Given the description of an element on the screen output the (x, y) to click on. 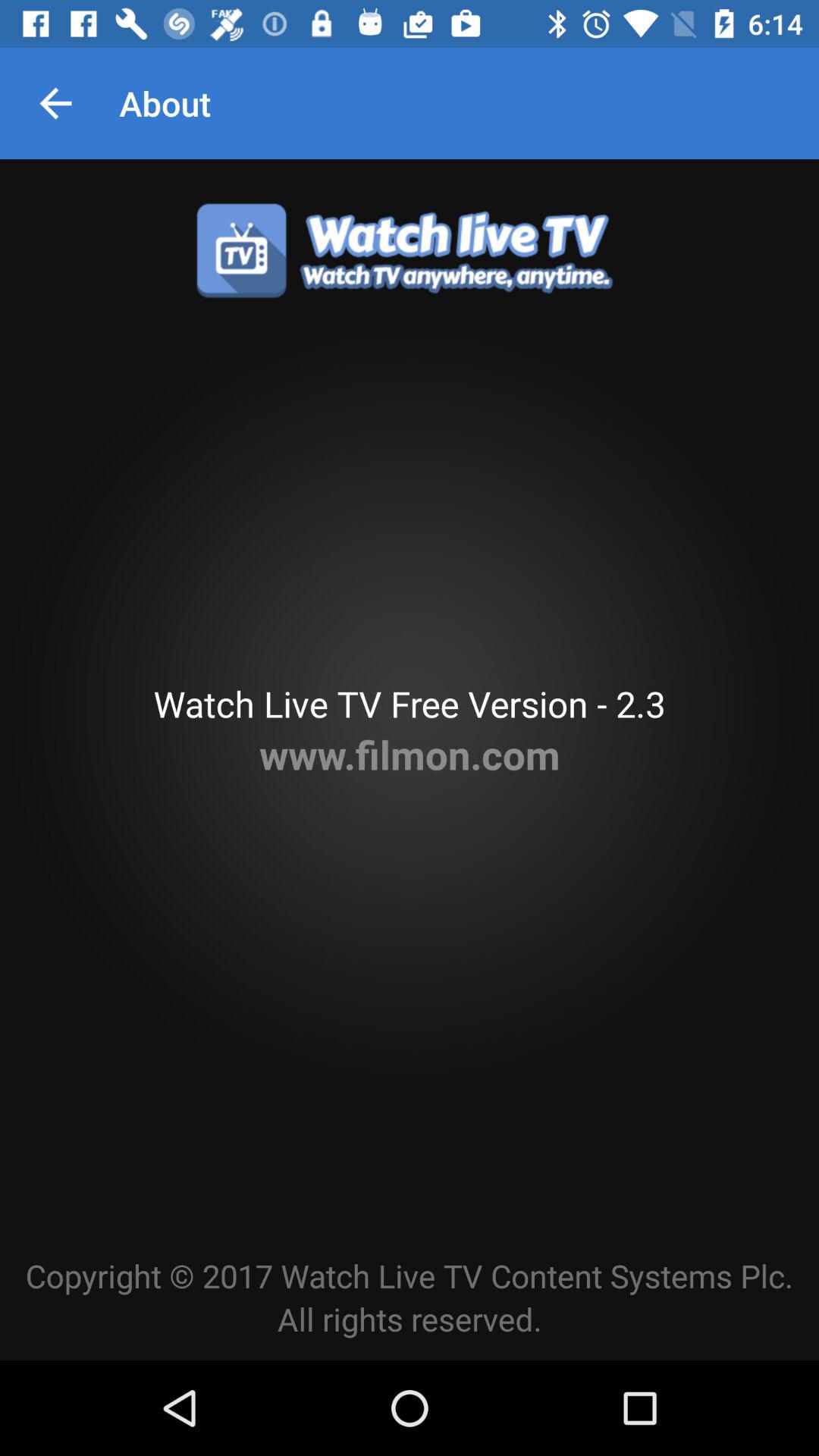
choose item above copyright 2017 watch item (409, 754)
